Given the description of an element on the screen output the (x, y) to click on. 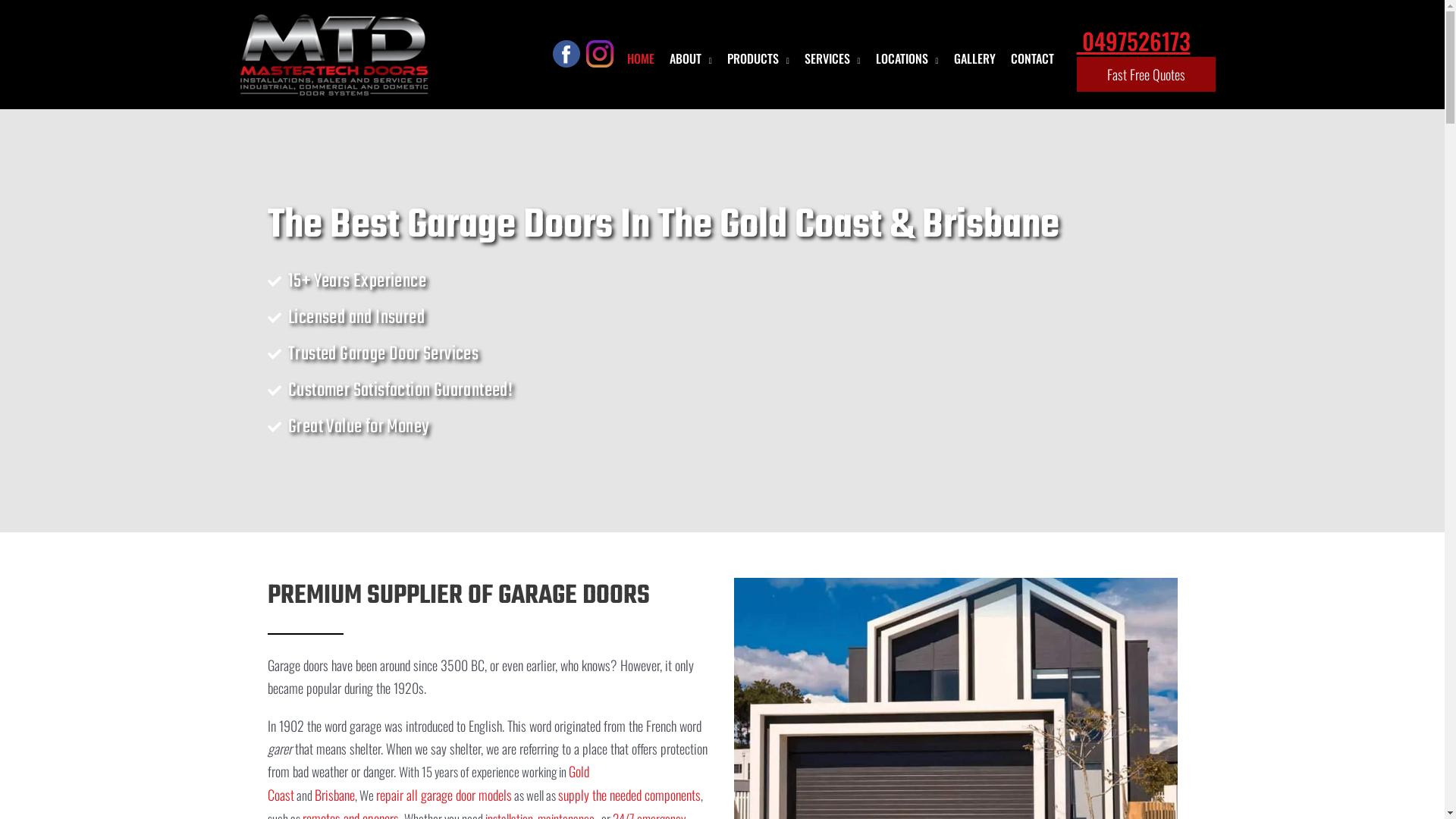
 0497526173 Element type: text (1133, 46)
Brisbane Element type: text (333, 794)
SERVICES Element type: text (832, 54)
ABOUT Element type: text (690, 54)
CONTACT Element type: text (1031, 54)
Fast Free Quotes Element type: text (1145, 74)
HOME Element type: text (640, 54)
supply the needed components Element type: text (629, 794)
GALLERY Element type: text (974, 54)
Gold Coast Element type: text (427, 782)
LOCATIONS Element type: text (907, 54)
repair all garage door models Element type: text (443, 794)
PRODUCTS Element type: text (758, 54)
